Given the description of an element on the screen output the (x, y) to click on. 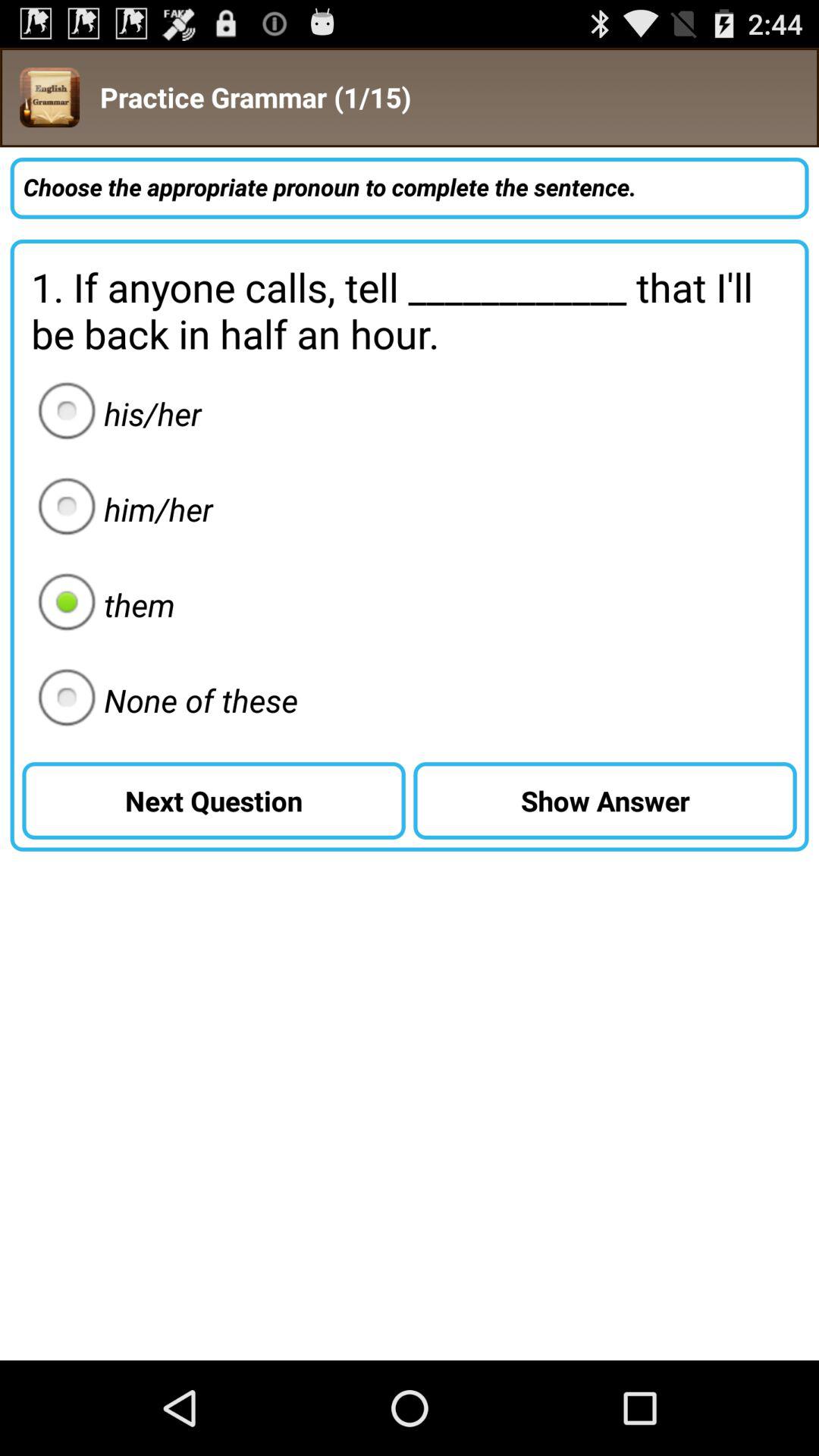
launch the button to the left of the show answer item (213, 800)
